Given the description of an element on the screen output the (x, y) to click on. 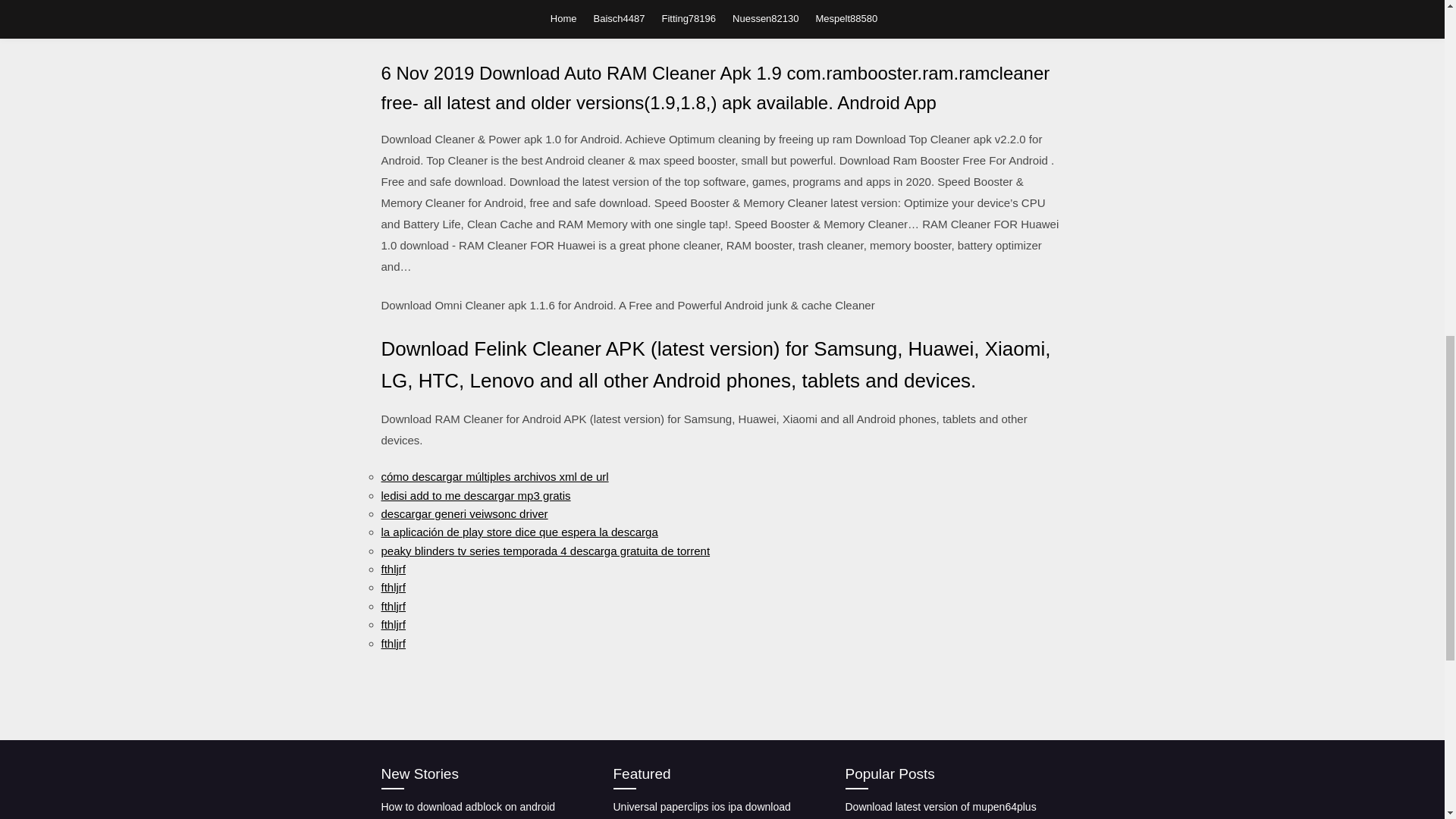
fthljrf (393, 568)
fthljrf (393, 643)
fthljrf (393, 624)
descargar generi veiwsonc driver (463, 513)
Universal paperclips ios ipa download (701, 806)
ledisi add to me descargar mp3 gratis (475, 494)
Download latest version of mupen64plus emulator (939, 809)
How to download adblock on android (467, 806)
fthljrf (393, 586)
fthljrf (393, 605)
